Given the description of an element on the screen output the (x, y) to click on. 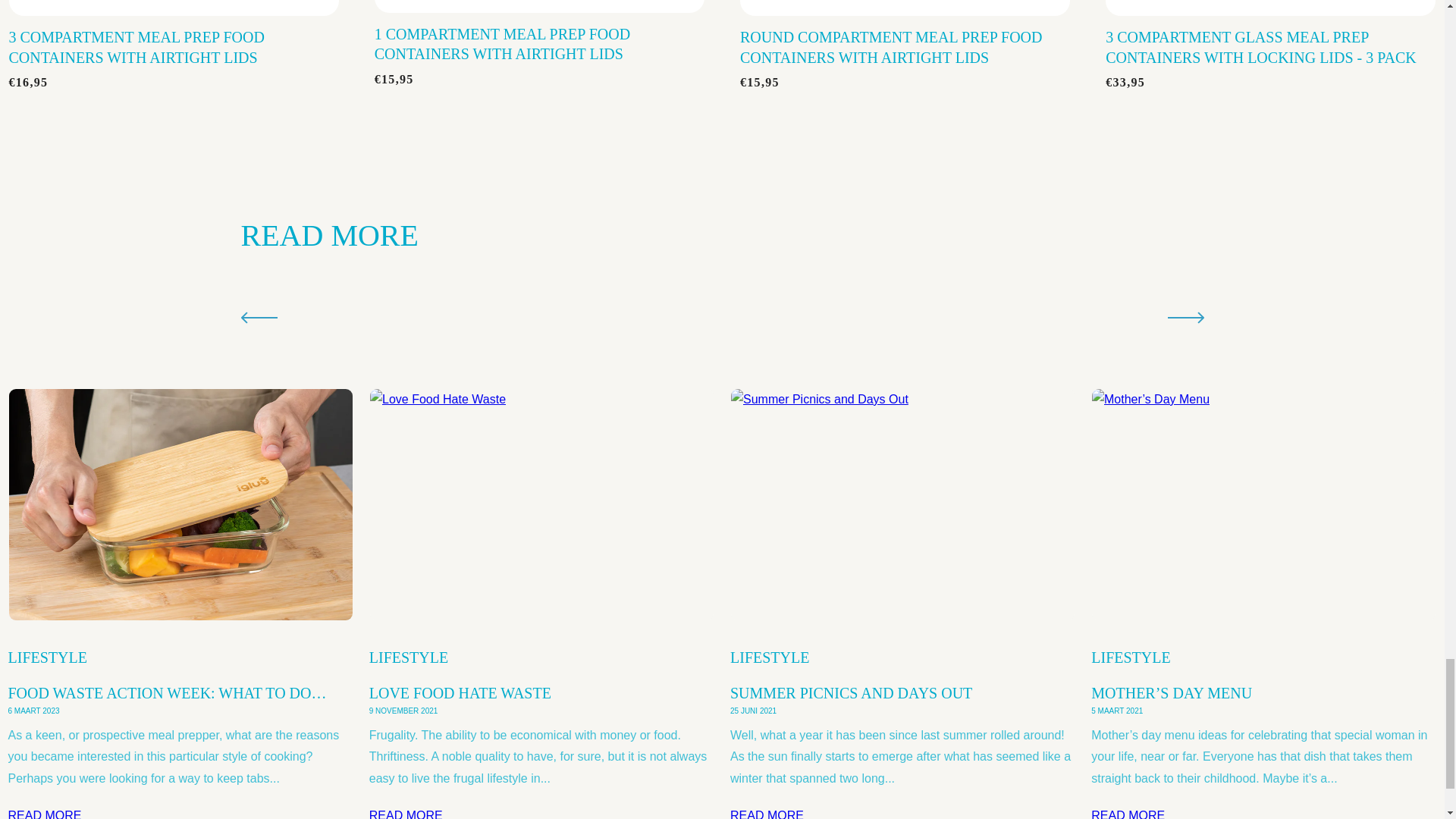
Product link (539, 6)
Product link (172, 7)
Product link (904, 7)
Product link (1270, 7)
